Given the description of an element on the screen output the (x, y) to click on. 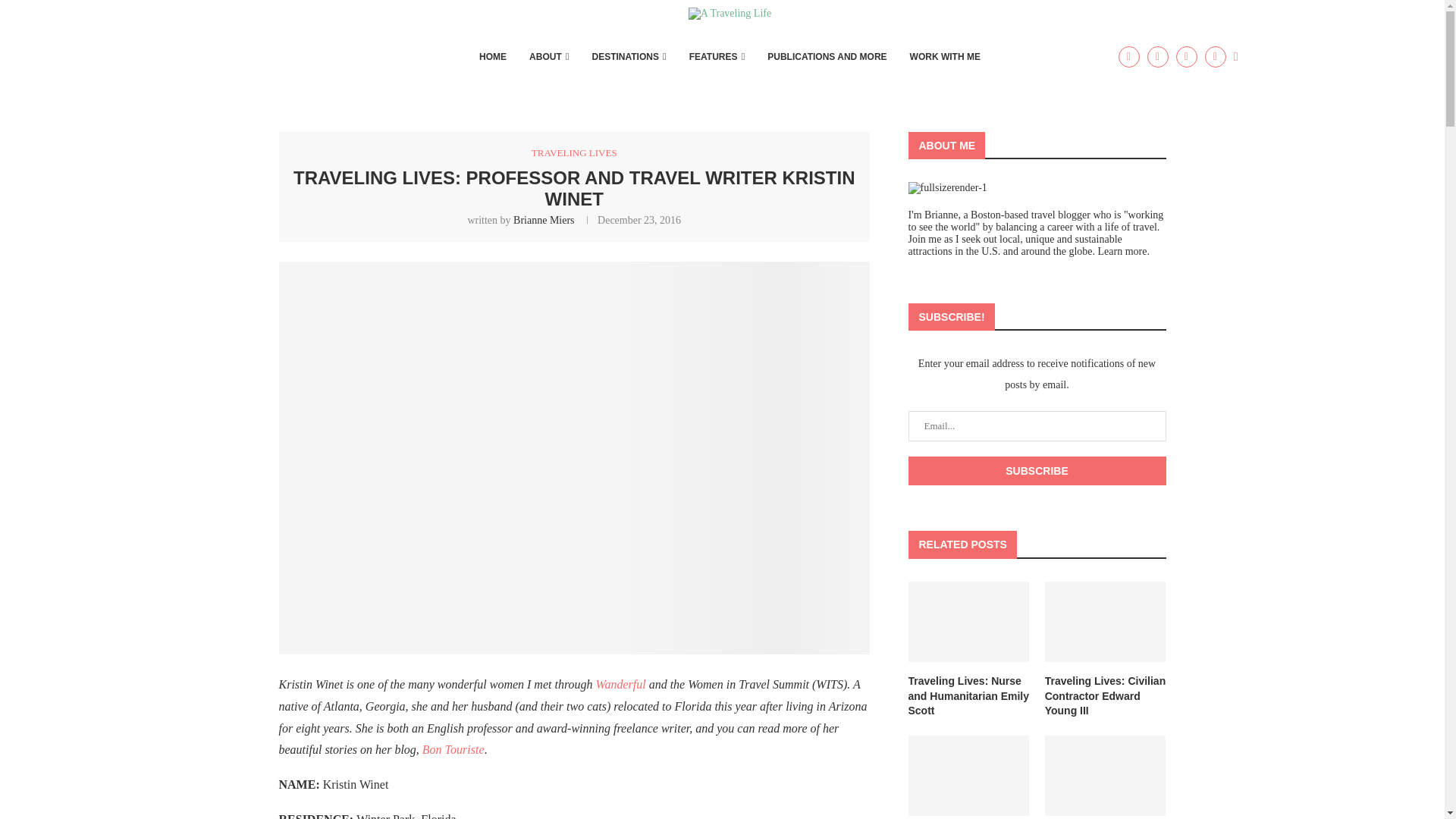
Subscribe (1037, 470)
Traveling Lives: Nurse and Humanitarian Emily Scott (968, 621)
ABOUT (549, 56)
Traveling Lives: Civilian Contractor Edward Young III (1105, 696)
Traveling Lives: Civilian Contractor Edward Young III (1105, 621)
DESTINATIONS (628, 56)
Traveling Lives: Nurse and Humanitarian Emily Scott (968, 696)
